Given the description of an element on the screen output the (x, y) to click on. 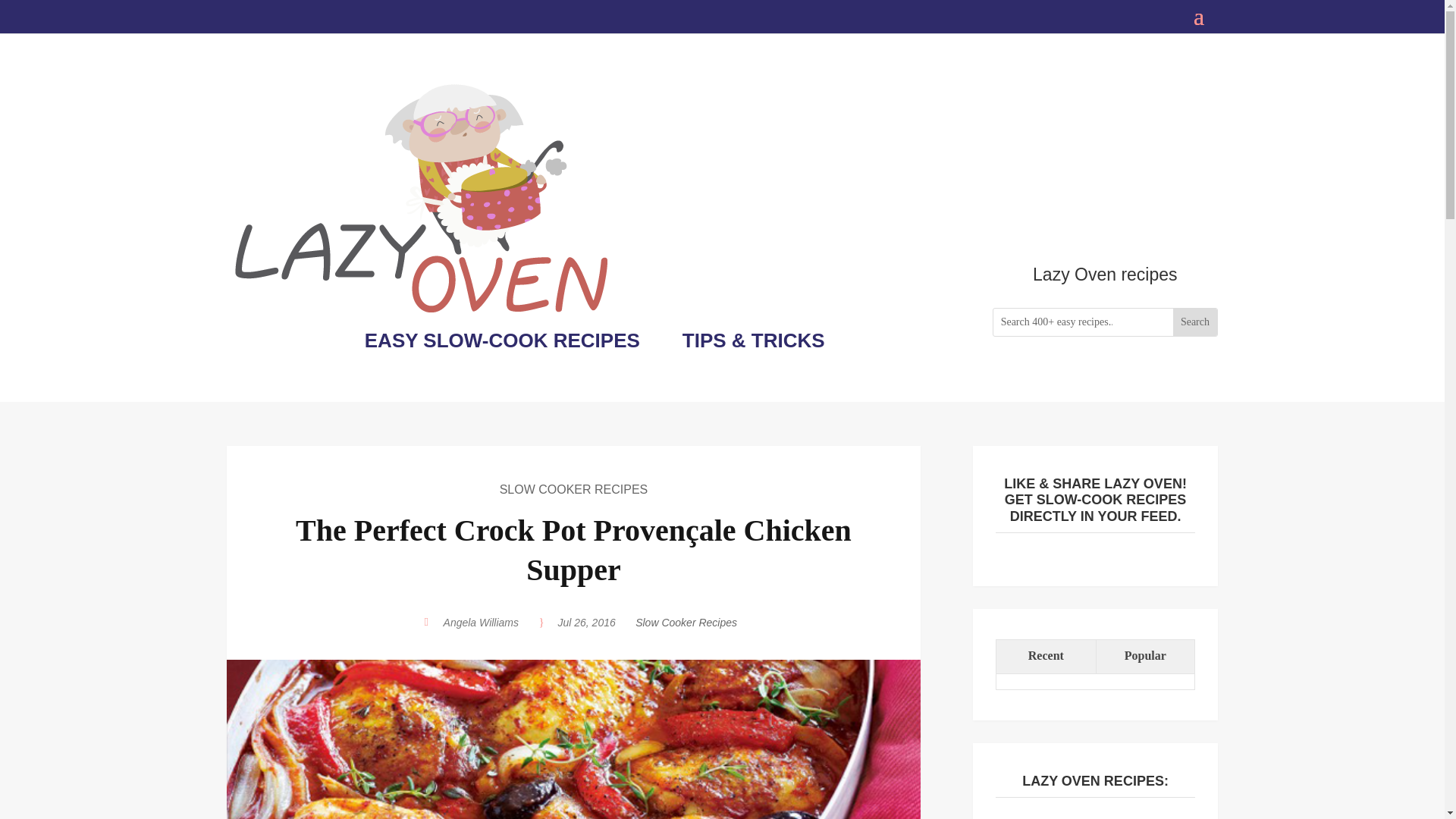
Recent (1044, 656)
EASY SLOW-COOK RECIPES (502, 340)
Popular (1144, 656)
Angela Williams (481, 622)
Search (1195, 321)
Posts by Angela Williams (481, 622)
Slow Cooker Recipes (685, 622)
Search (1195, 321)
SLOW COOKER RECIPES (573, 489)
Lazy Oven: easy slow-cooker recipes (420, 197)
